Given the description of an element on the screen output the (x, y) to click on. 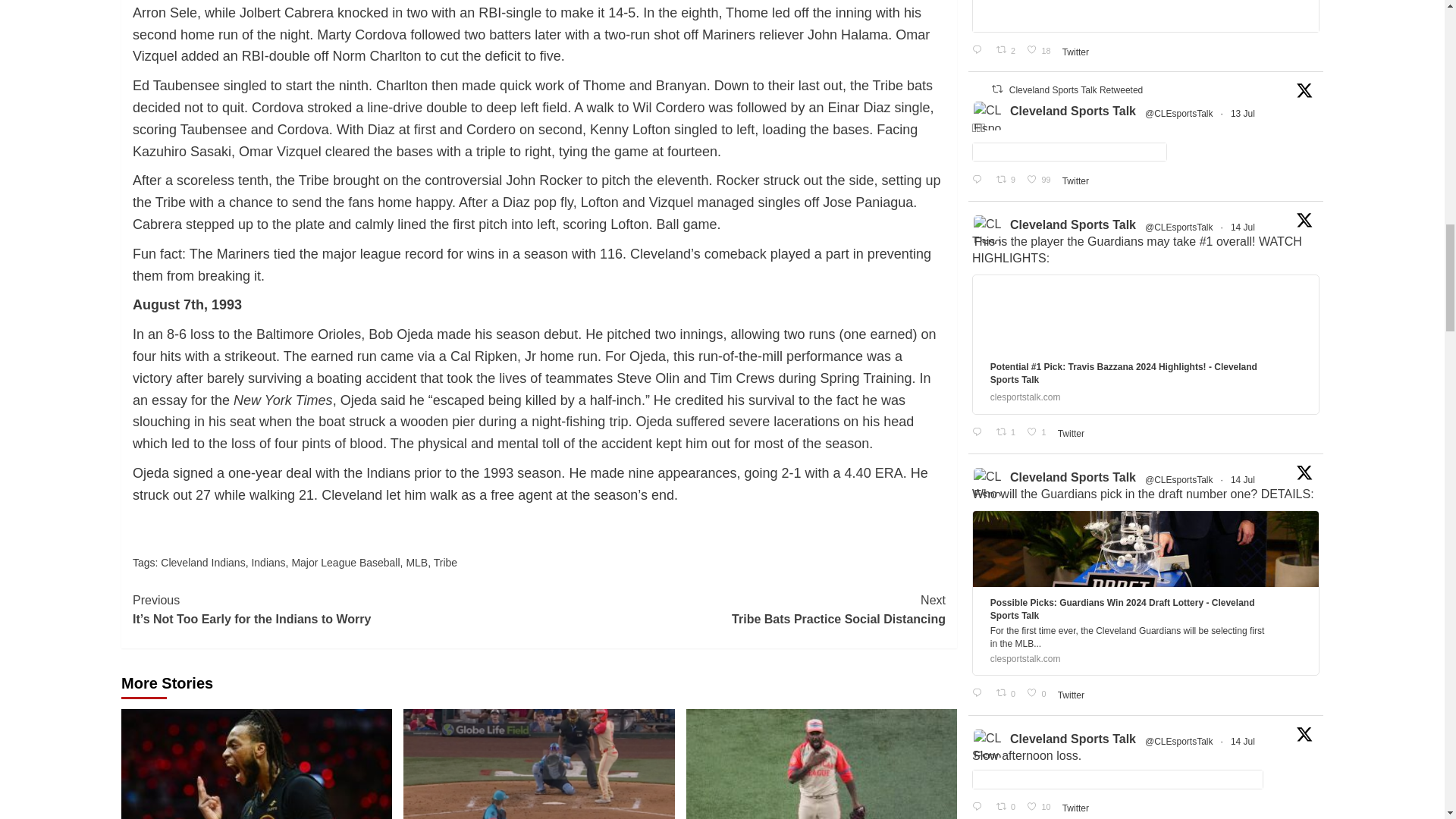
Cleveland Indians (202, 562)
Major League Baseball (344, 562)
Tribe (445, 562)
MLB (417, 562)
Indians (267, 562)
